Given the description of an element on the screen output the (x, y) to click on. 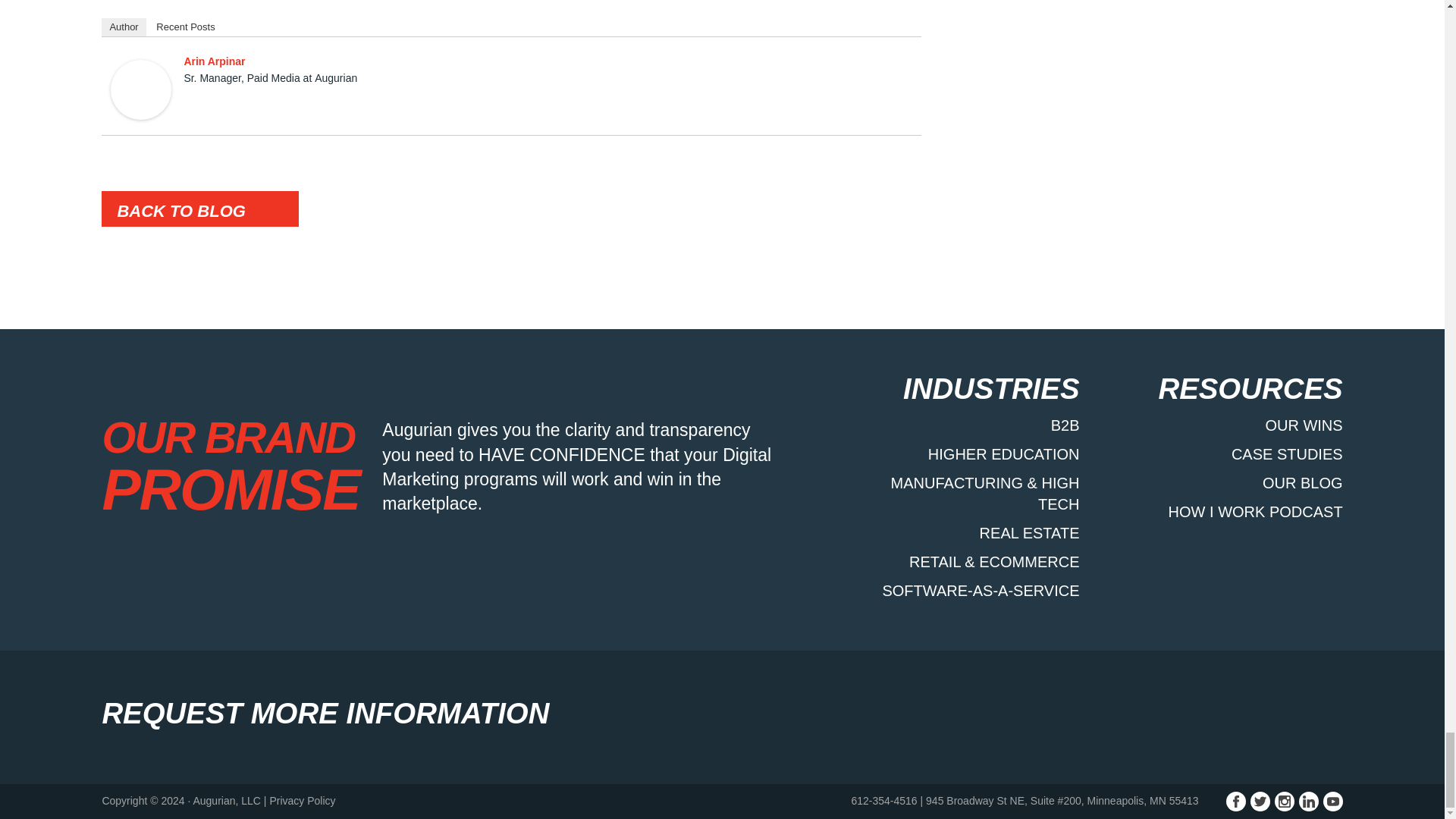
Arin Arpinar (140, 88)
